Given the description of an element on the screen output the (x, y) to click on. 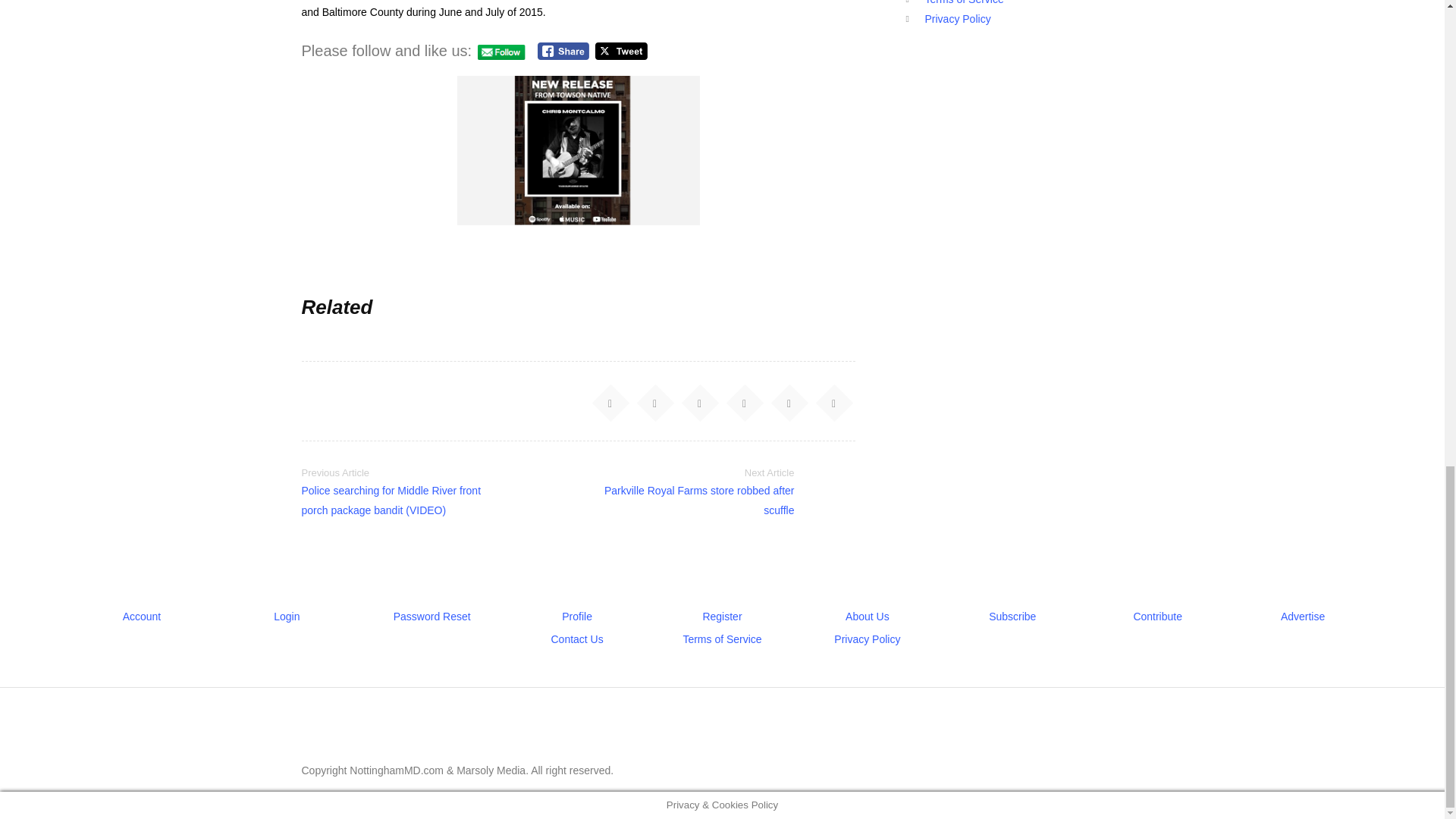
Parkville Royal Farms store robbed after scuffle (699, 500)
Facebook Share (563, 50)
